Given the description of an element on the screen output the (x, y) to click on. 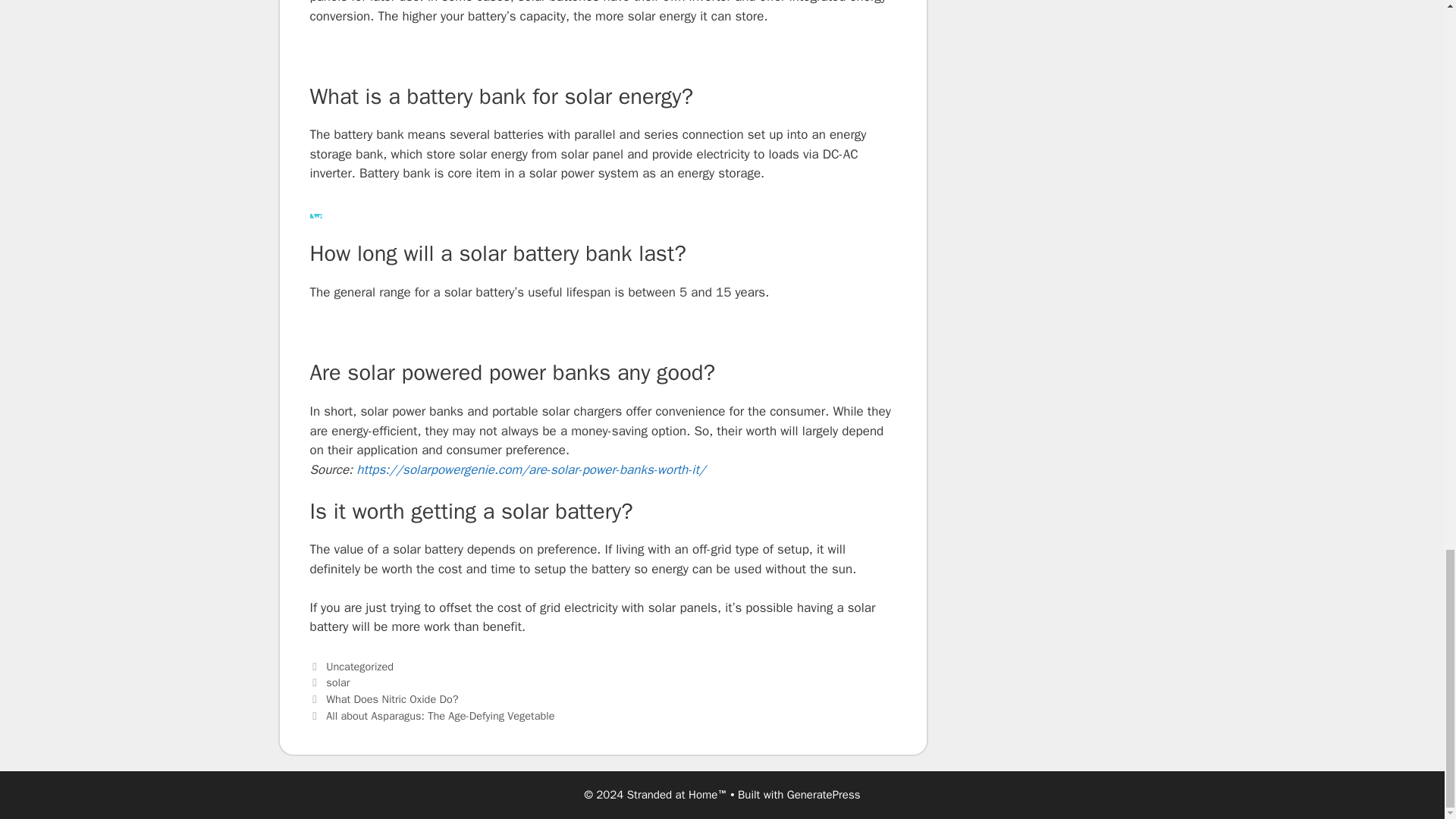
solar (337, 682)
What Does Nitric Oxide Do? (392, 698)
GeneratePress (823, 794)
All about Asparagus: The Age-Defying Vegetable (440, 715)
